Given the description of an element on the screen output the (x, y) to click on. 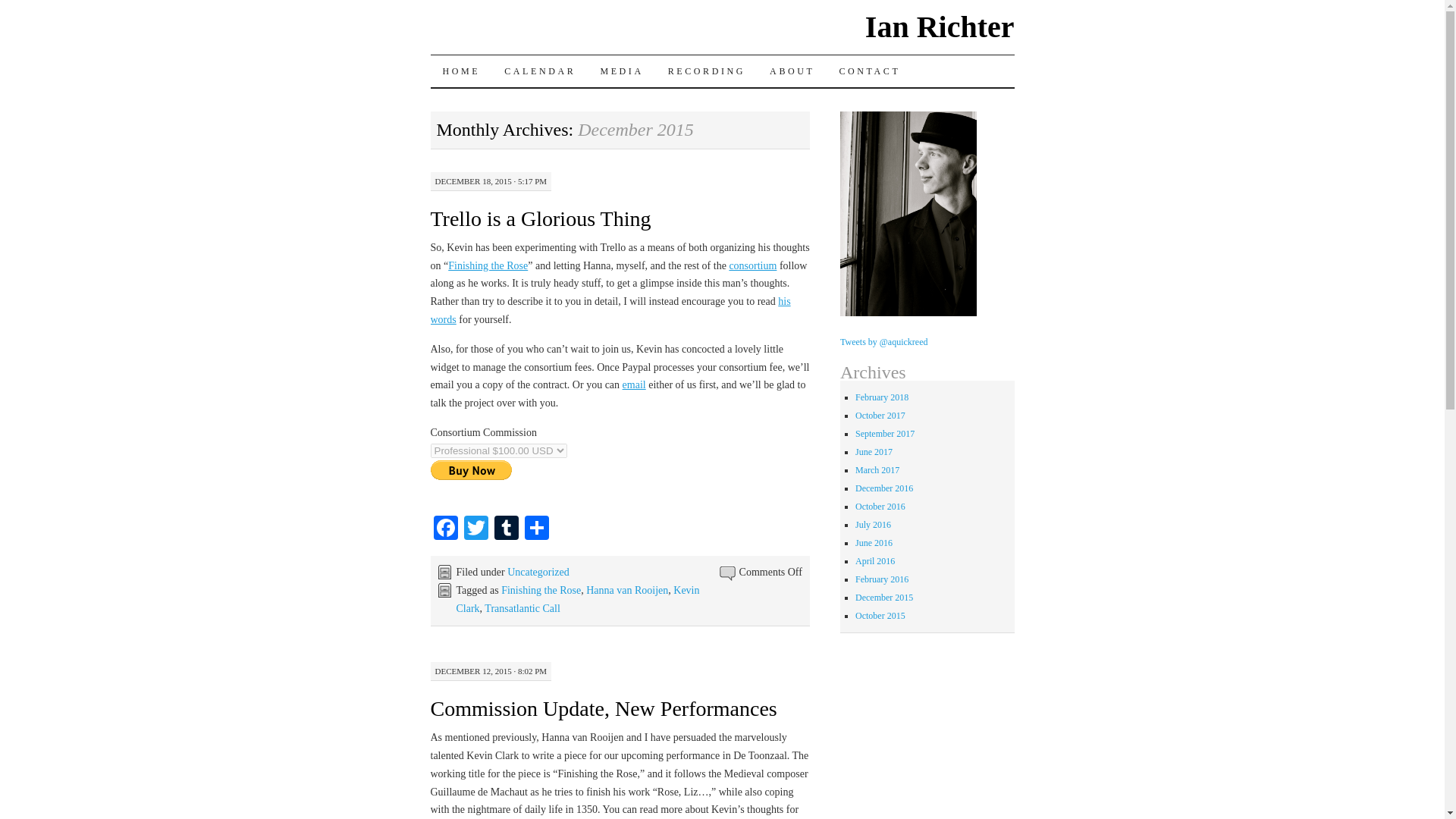
CONTACT (869, 70)
RECORDING (706, 70)
Tumblr (506, 529)
Twitter (476, 529)
CALENDAR (540, 70)
consortium (752, 265)
Tumblr (506, 529)
Trello is a Glorious Thing (540, 218)
Twitter (476, 529)
Facebook (445, 529)
his words (610, 310)
Kevin Clark (578, 599)
Uncategorized (537, 572)
Commission Update, New Performances (603, 708)
Hanna van Rooijen (627, 590)
